Given the description of an element on the screen output the (x, y) to click on. 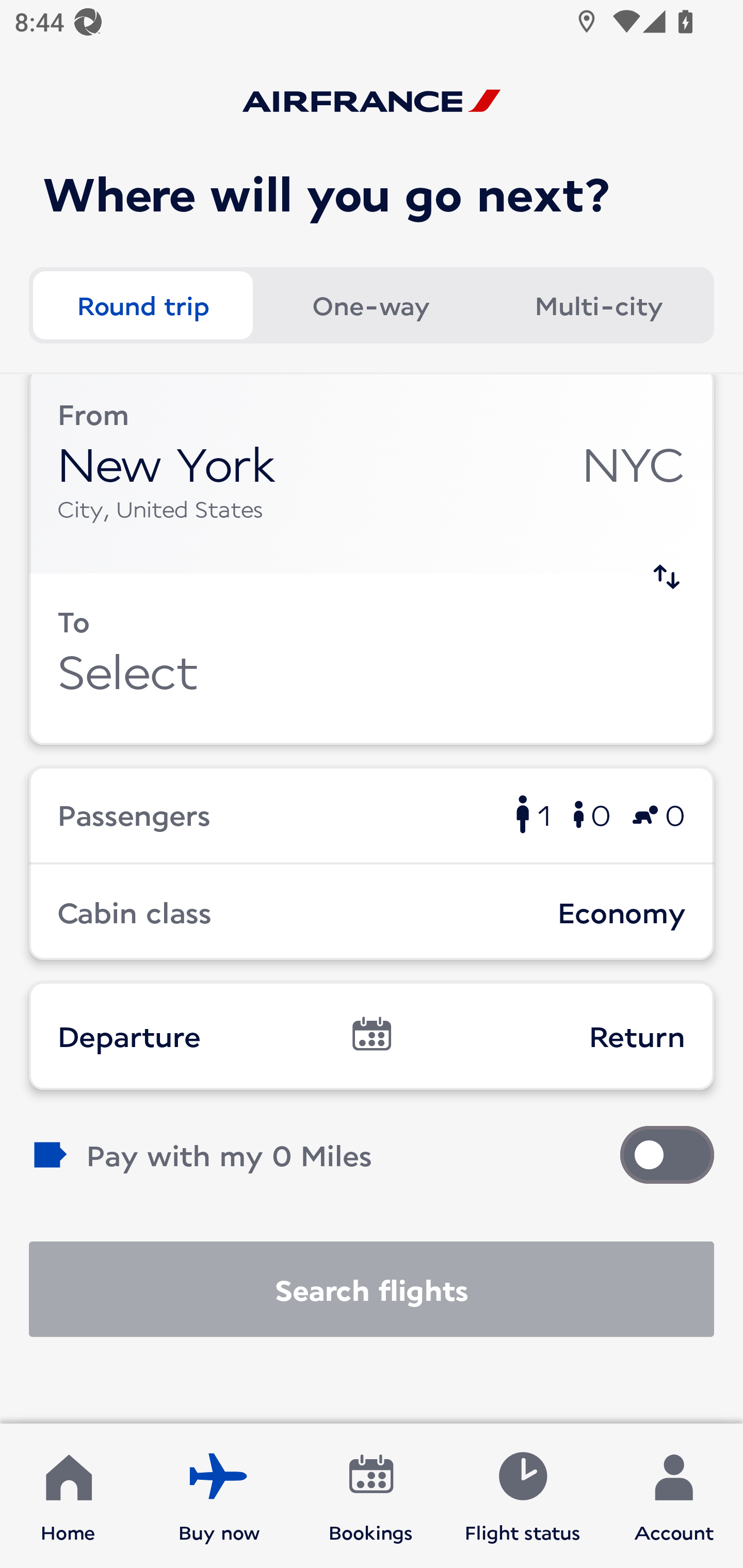
Round trip (142, 304)
One-way (370, 304)
Multi-city (598, 304)
From New York NYC City, United States (371, 473)
To Select (371, 658)
Passengers 1 0 0 (371, 814)
Cabin class Economy (371, 911)
Departure Return (371, 1035)
Search flights (371, 1289)
Home (68, 1495)
Bookings (370, 1495)
Flight status (522, 1495)
Account (674, 1495)
